Given the description of an element on the screen output the (x, y) to click on. 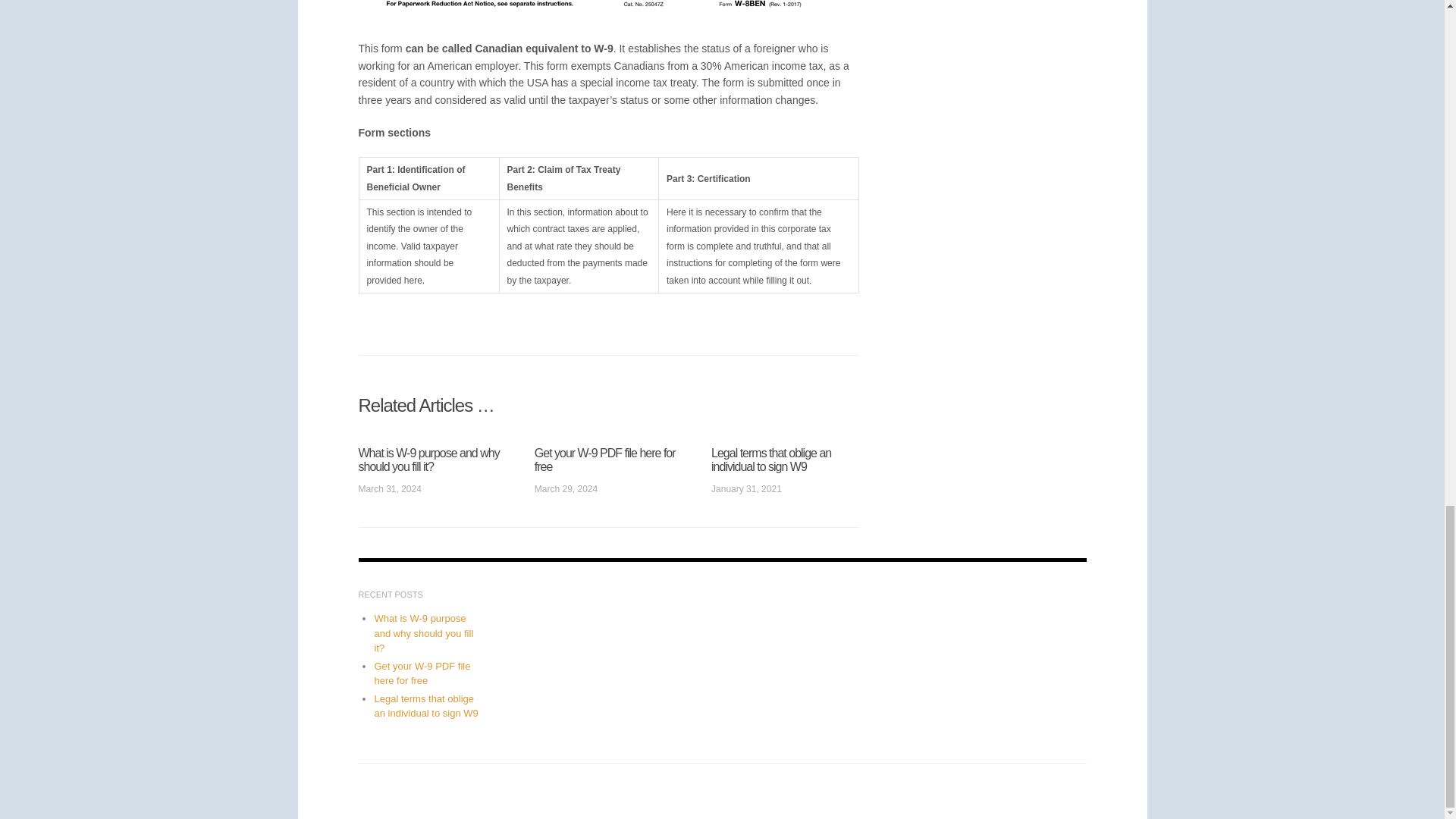
What is W-9 purpose and why should you fill it? (423, 632)
Get your W-9 PDF file here for free (604, 459)
What is W-9 purpose and why should you fill it? (428, 459)
Legal terms that oblige an individual to sign W9 (771, 459)
Legal terms that oblige an individual to sign W9 (425, 705)
Get your W-9 PDF file here for free (422, 673)
